Given the description of an element on the screen output the (x, y) to click on. 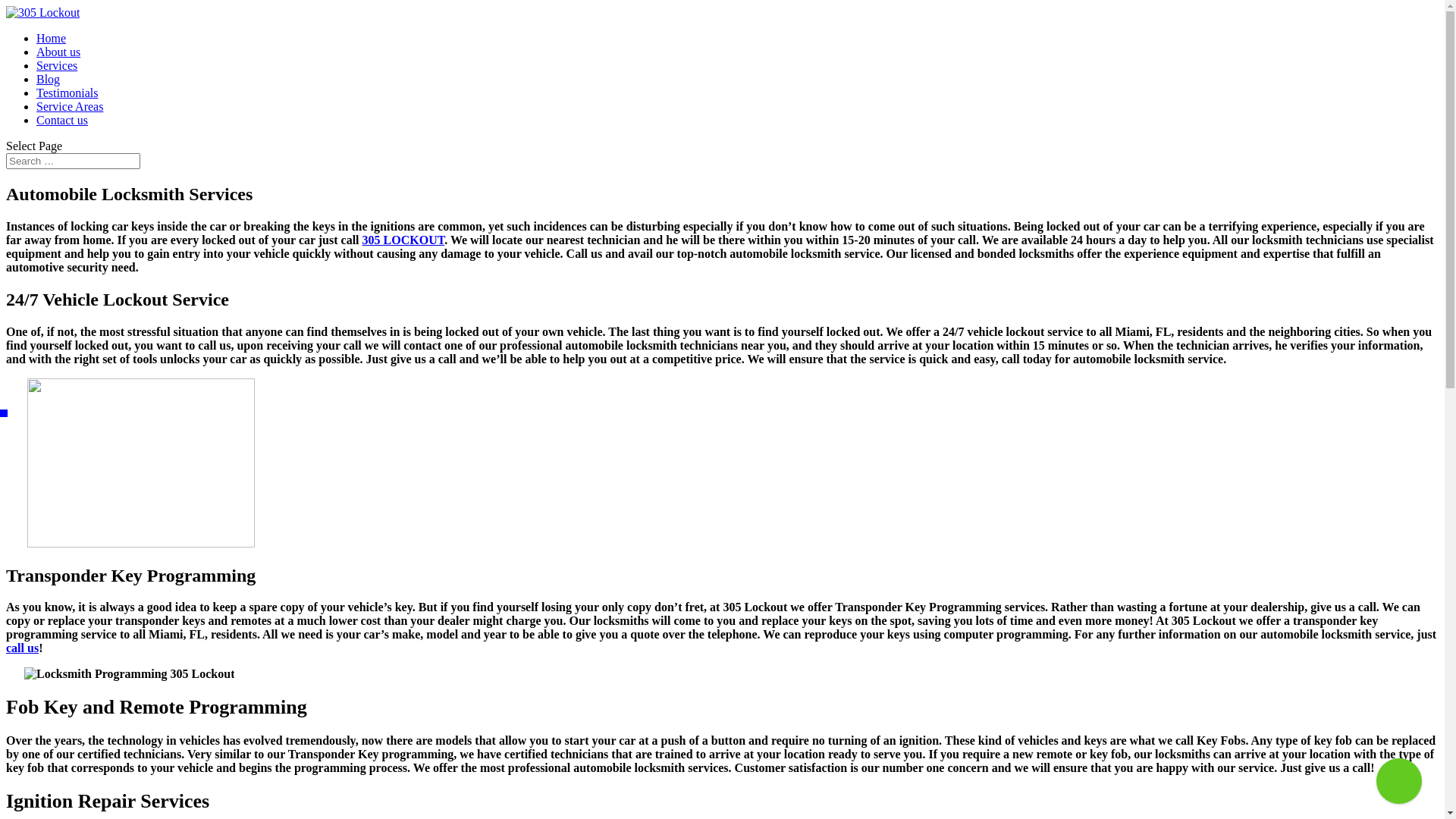
Blog Element type: text (47, 78)
call us Element type: text (22, 647)
Contact us Element type: text (61, 119)
305 LOCKOUT Element type: text (403, 239)
Service Areas Element type: text (69, 106)
Search for: Element type: hover (73, 161)
About us Element type: text (58, 51)
Home Element type: text (50, 37)
Services Element type: text (56, 65)
Testimonials Element type: text (67, 92)
